Given the description of an element on the screen output the (x, y) to click on. 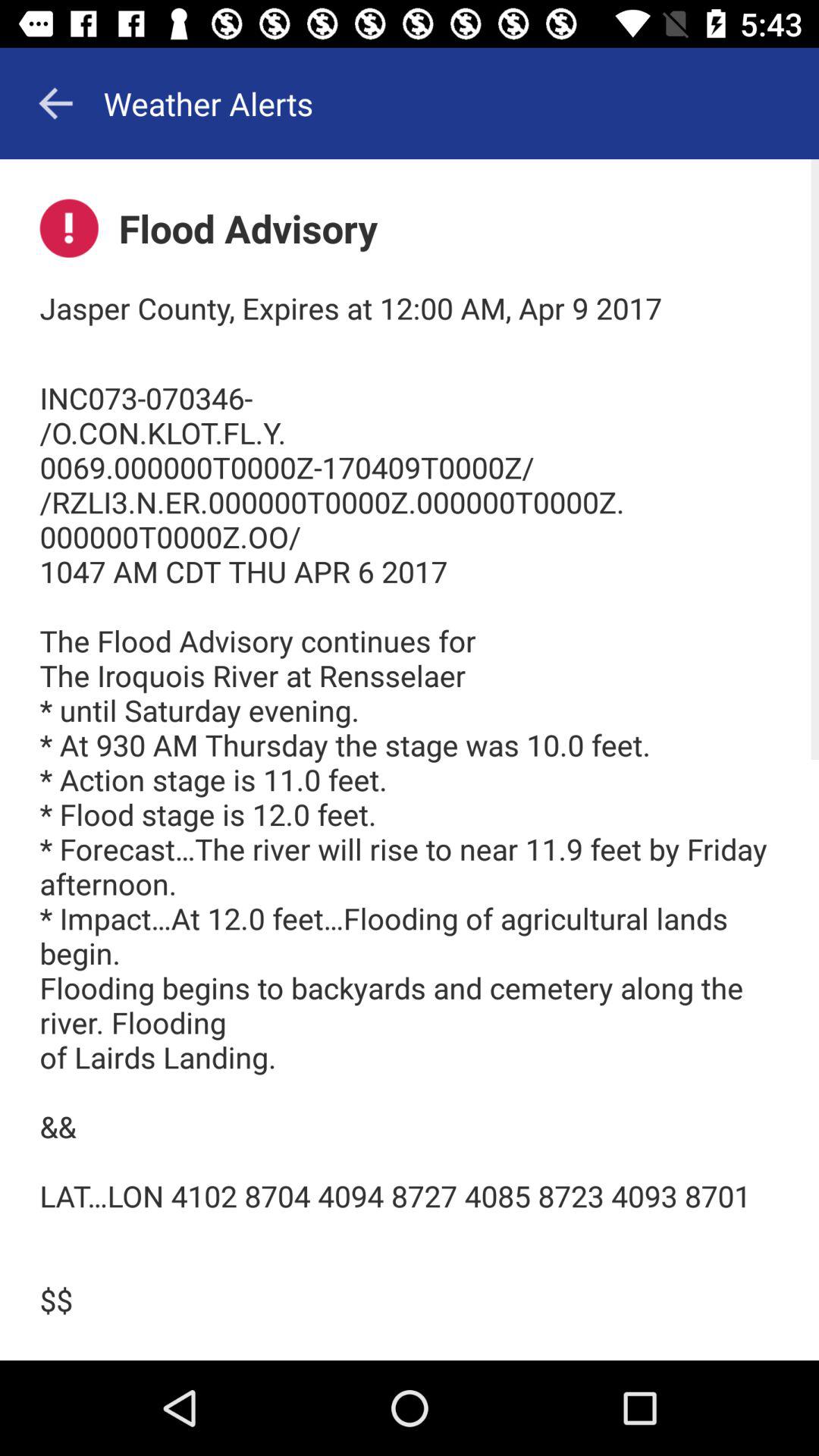
go back (55, 103)
